Given the description of an element on the screen output the (x, y) to click on. 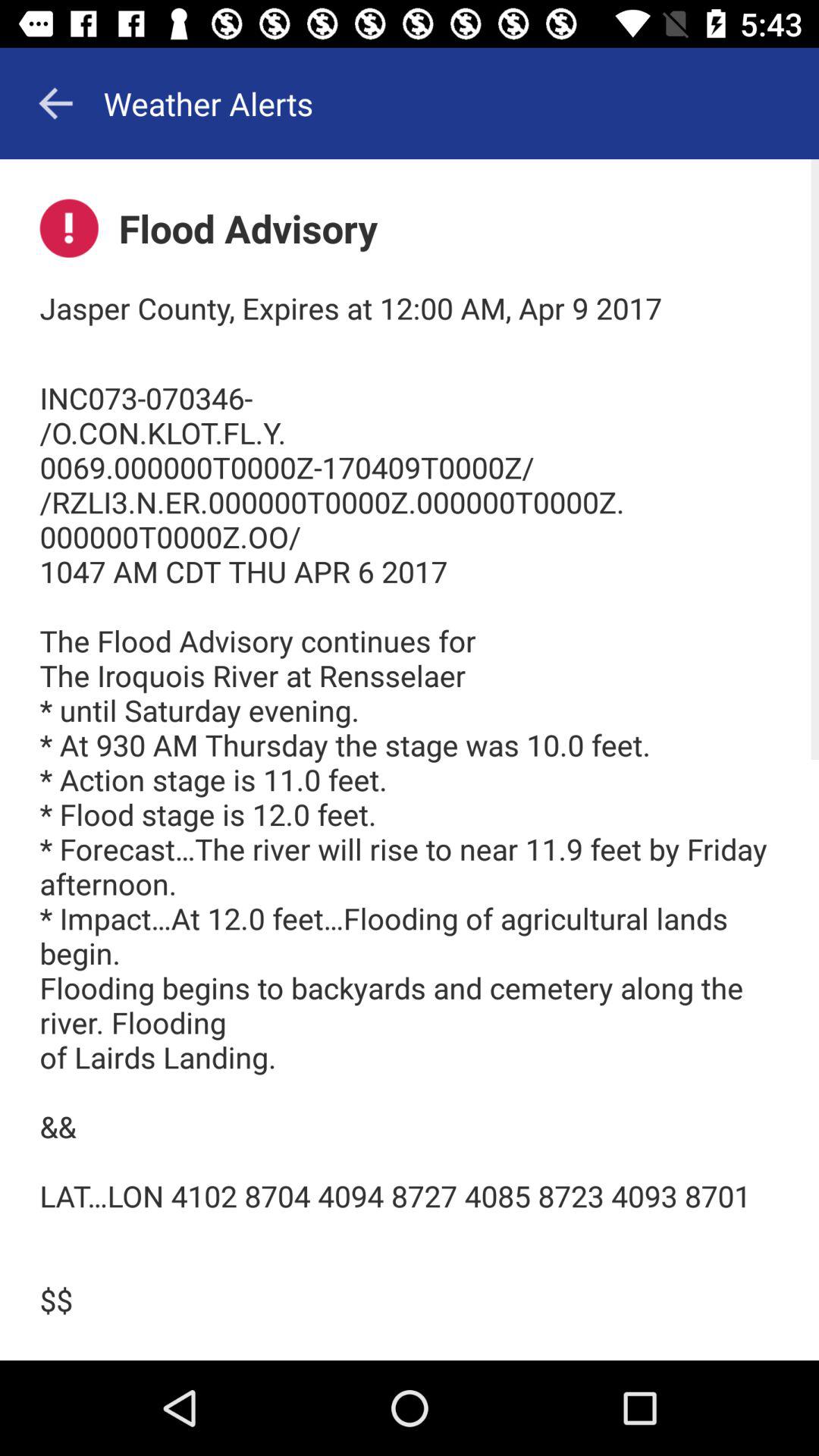
go back (55, 103)
